Given the description of an element on the screen output the (x, y) to click on. 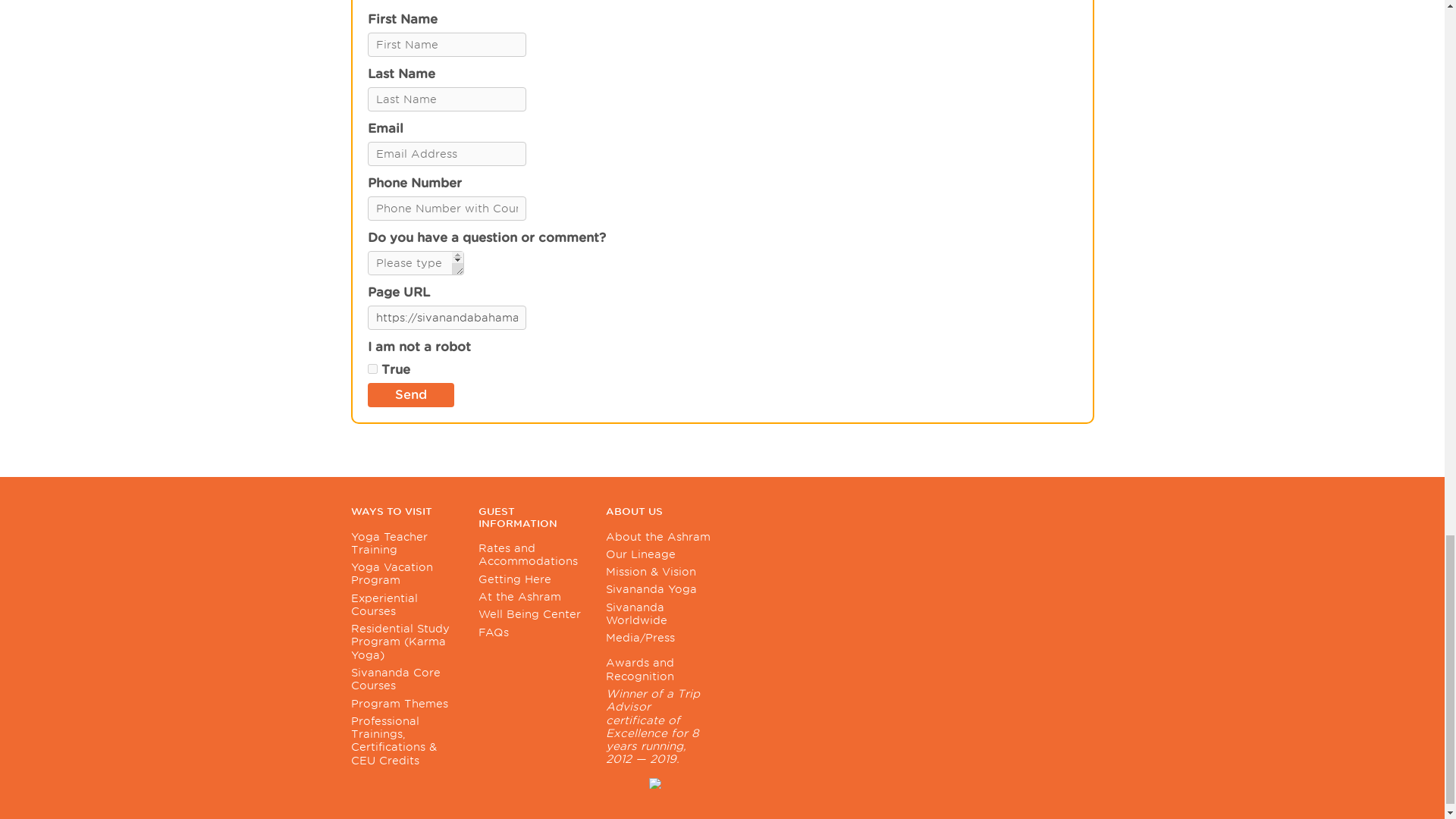
True (371, 368)
